Given the description of an element on the screen output the (x, y) to click on. 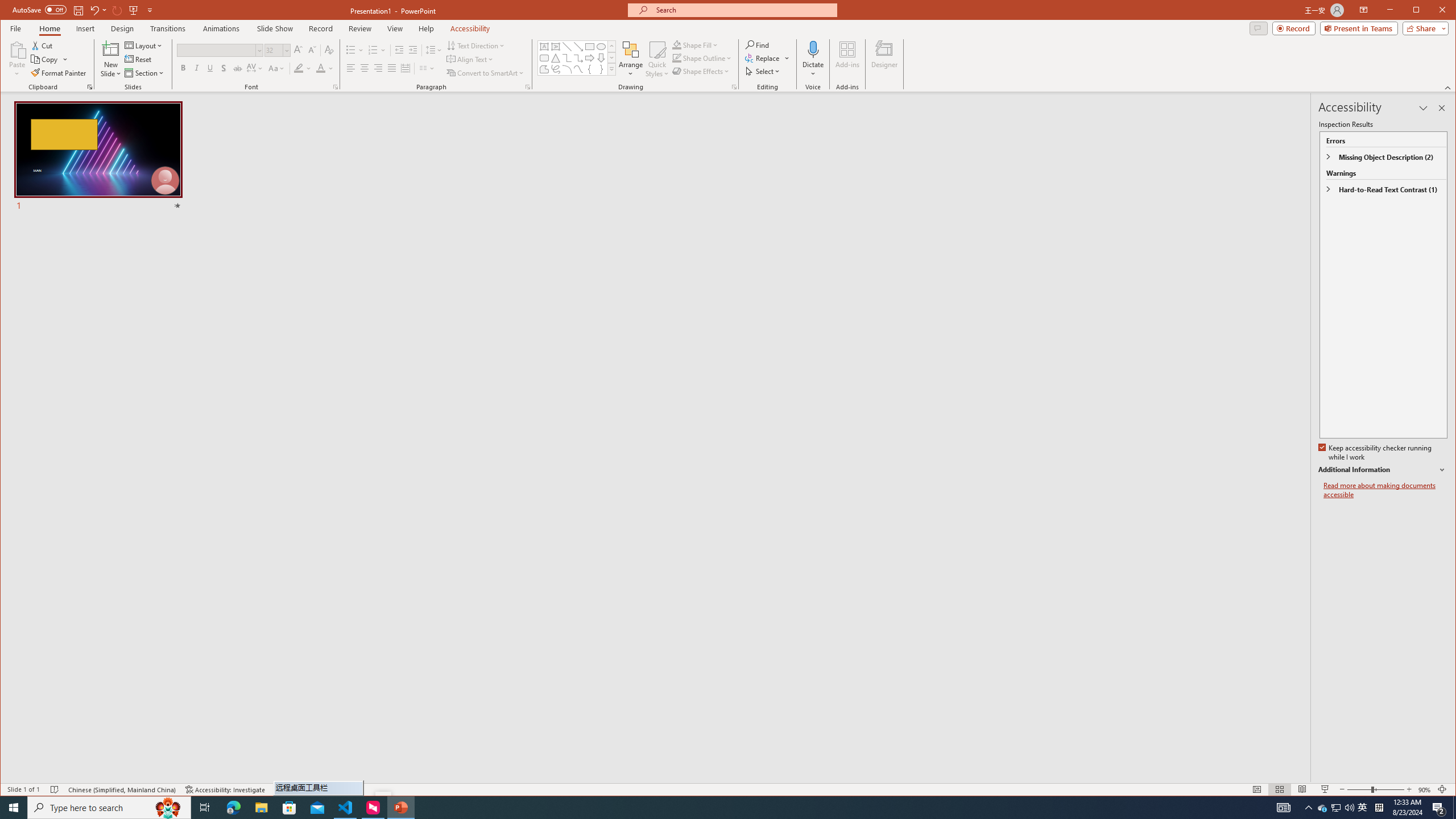
Curve (577, 69)
Connector: Elbow (567, 57)
Columns (426, 68)
Freeform: Shape (544, 69)
Quick Styles (658, 59)
Distributed (405, 68)
Left Brace (589, 69)
PowerPoint - 1 running window (400, 807)
